Given the description of an element on the screen output the (x, y) to click on. 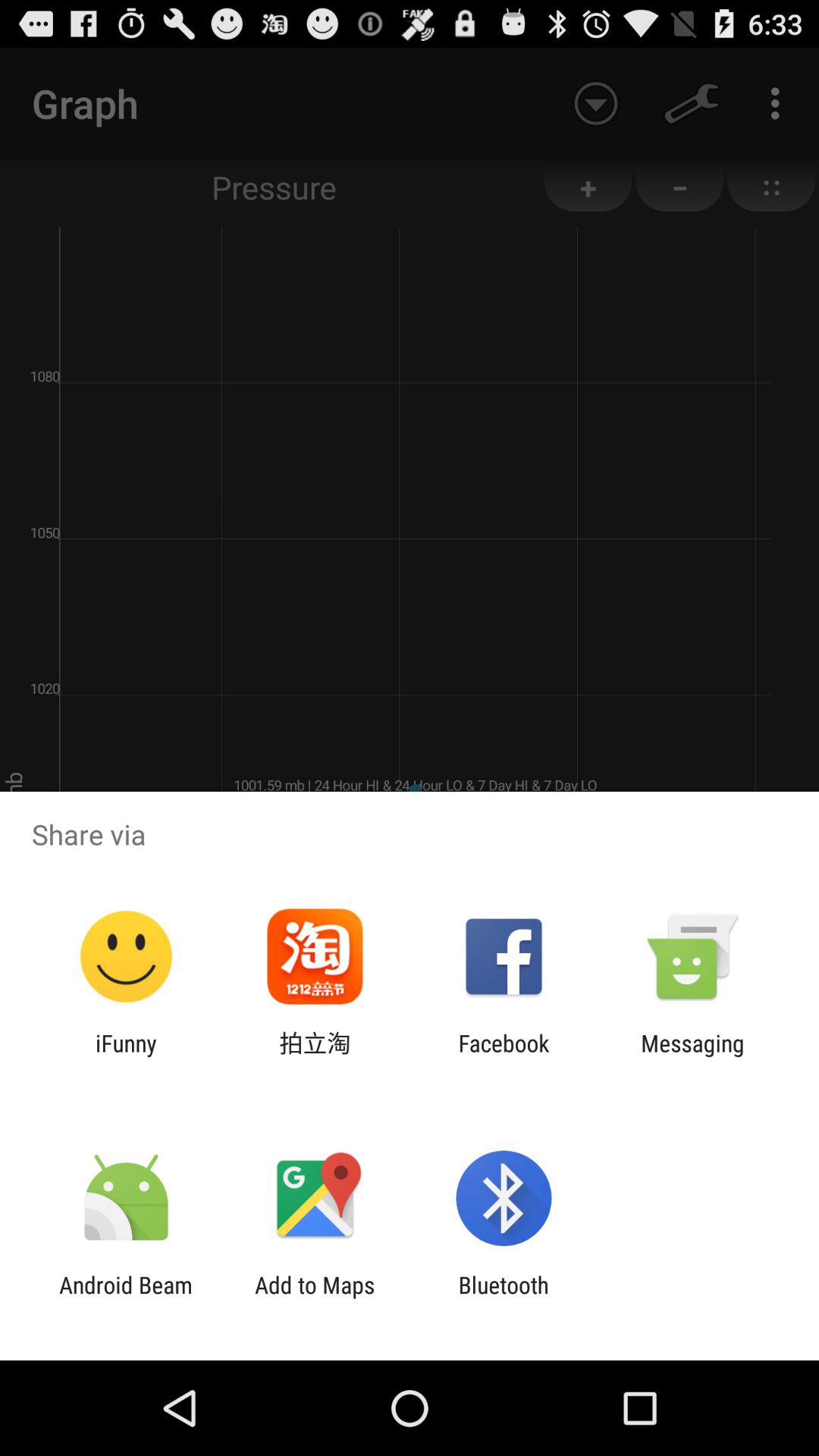
click the add to maps app (314, 1298)
